Given the description of an element on the screen output the (x, y) to click on. 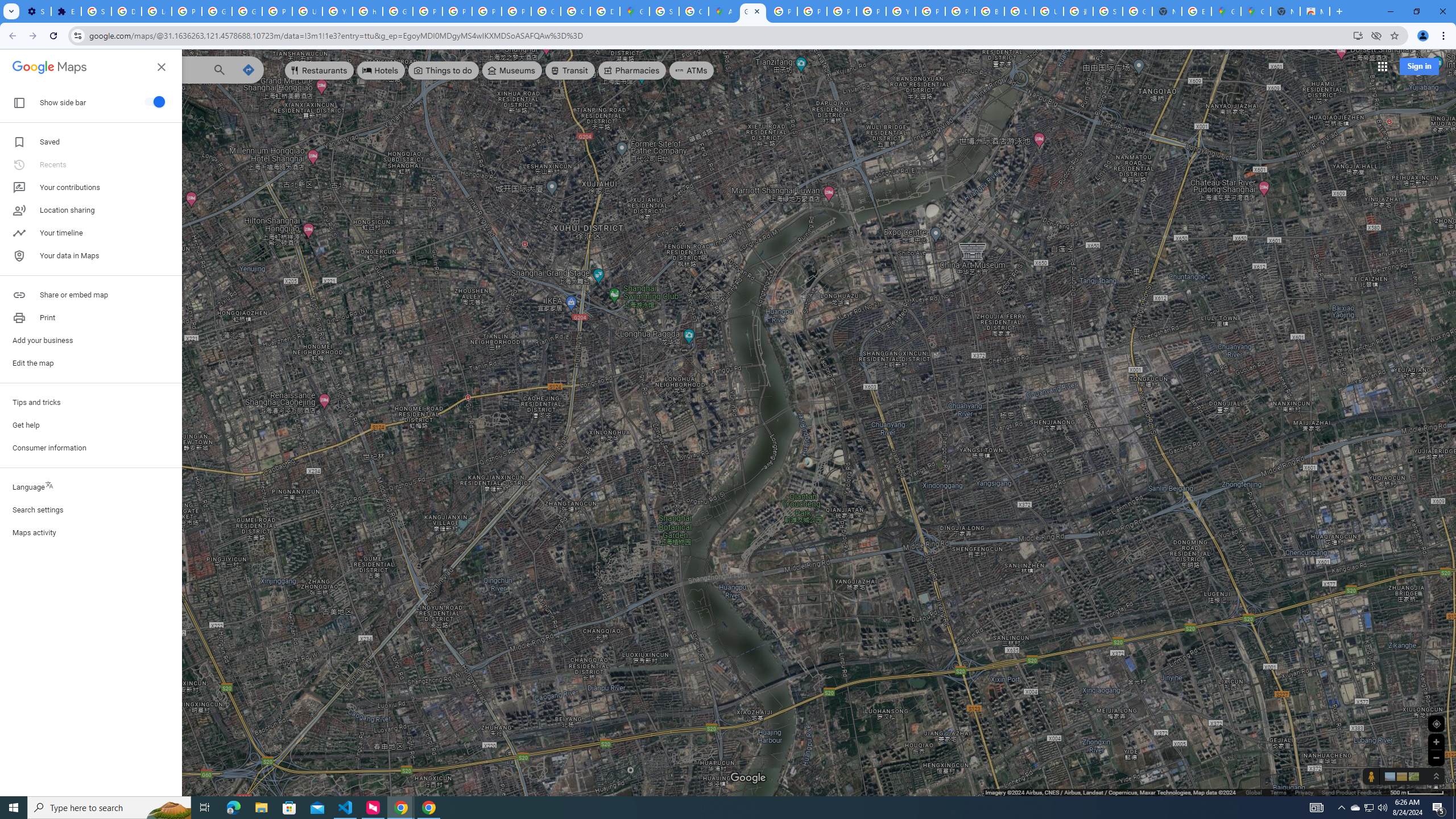
Sign in - Google Accounts (95, 11)
Install Google Maps (1358, 35)
Policy Accountability and Transparency - Transparency Center (782, 11)
Sign in - Google Accounts (1107, 11)
New Tab (1284, 11)
Your contributions (90, 187)
Google Account Help (216, 11)
